Given the description of an element on the screen output the (x, y) to click on. 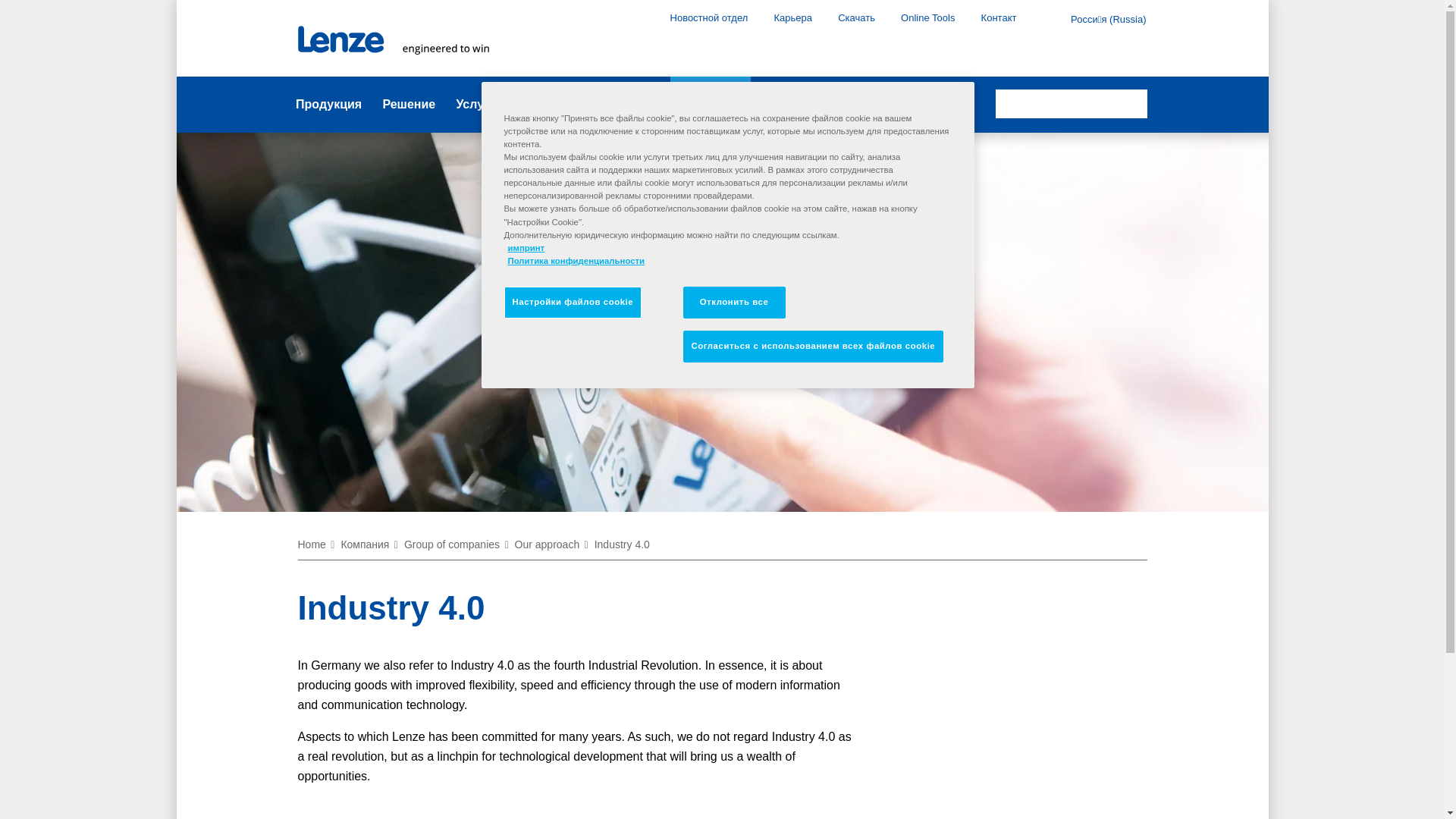
Online Tools (927, 17)
